Given the description of an element on the screen output the (x, y) to click on. 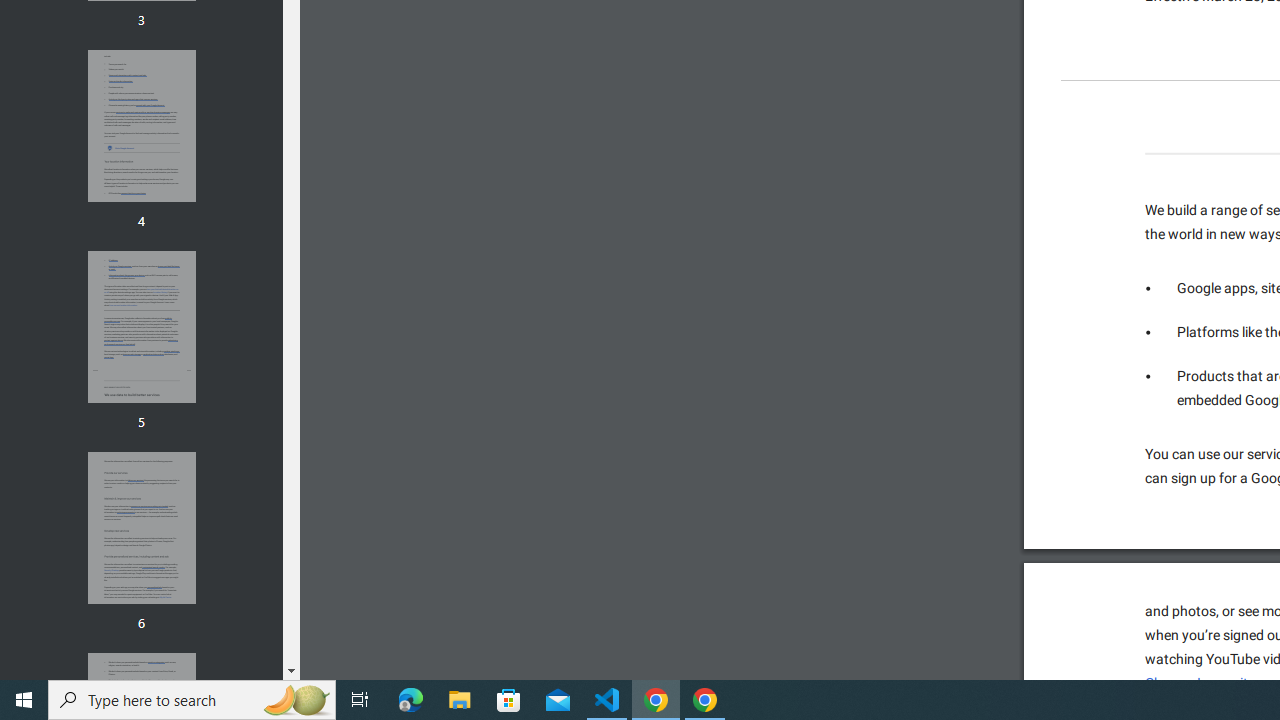
Thumbnail for page 6 (141, 528)
Thumbnail for page 4 (141, 125)
Chrome Incognito (1200, 683)
AutomationID: thumbnail (141, 528)
Thumbnail for page 5 (141, 326)
